Given the description of an element on the screen output the (x, y) to click on. 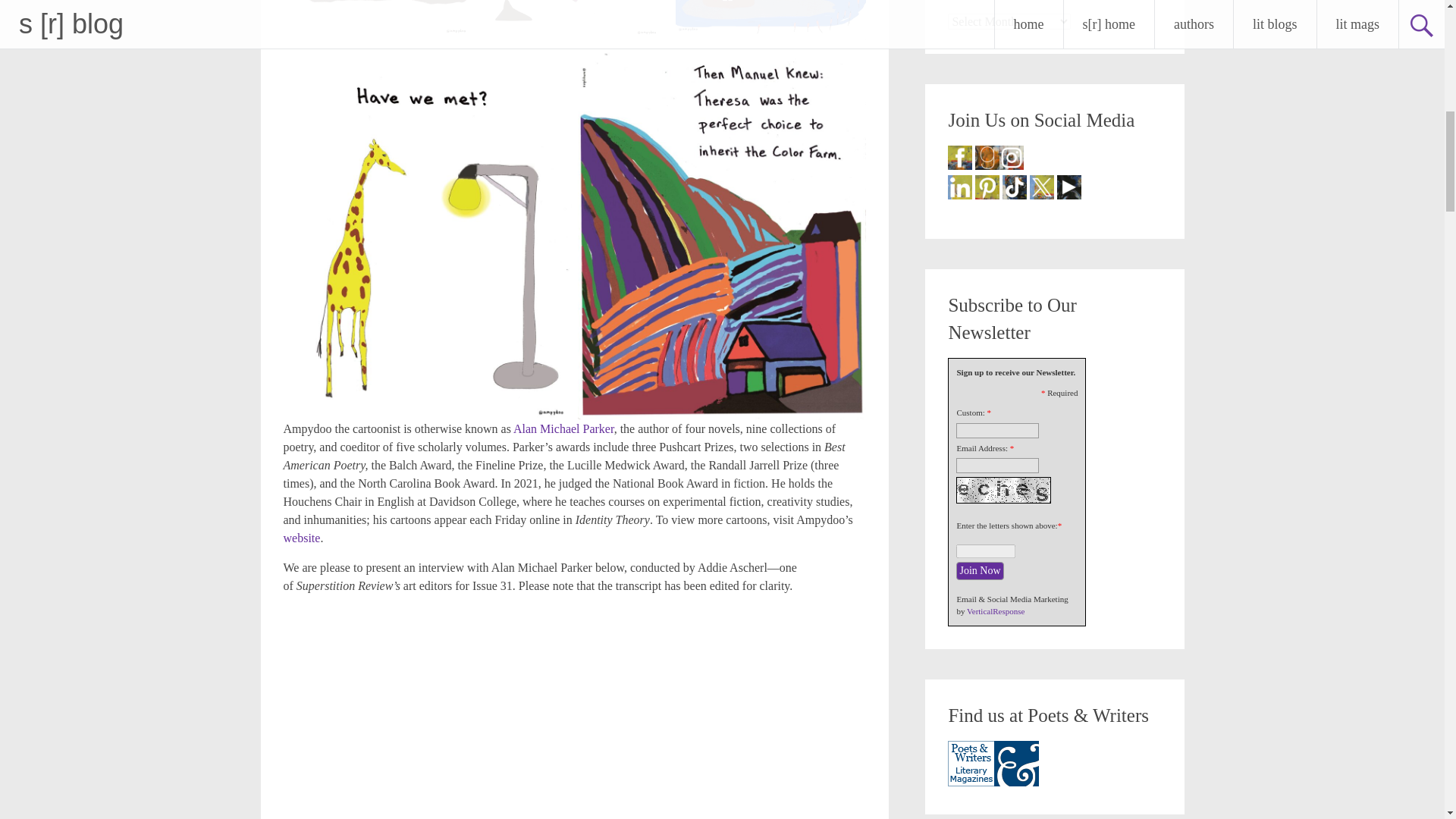
Superstition Review on Instagram (1010, 157)
website (301, 537)
Alan Michael Parker (563, 428)
Join Now (979, 570)
